Given the description of an element on the screen output the (x, y) to click on. 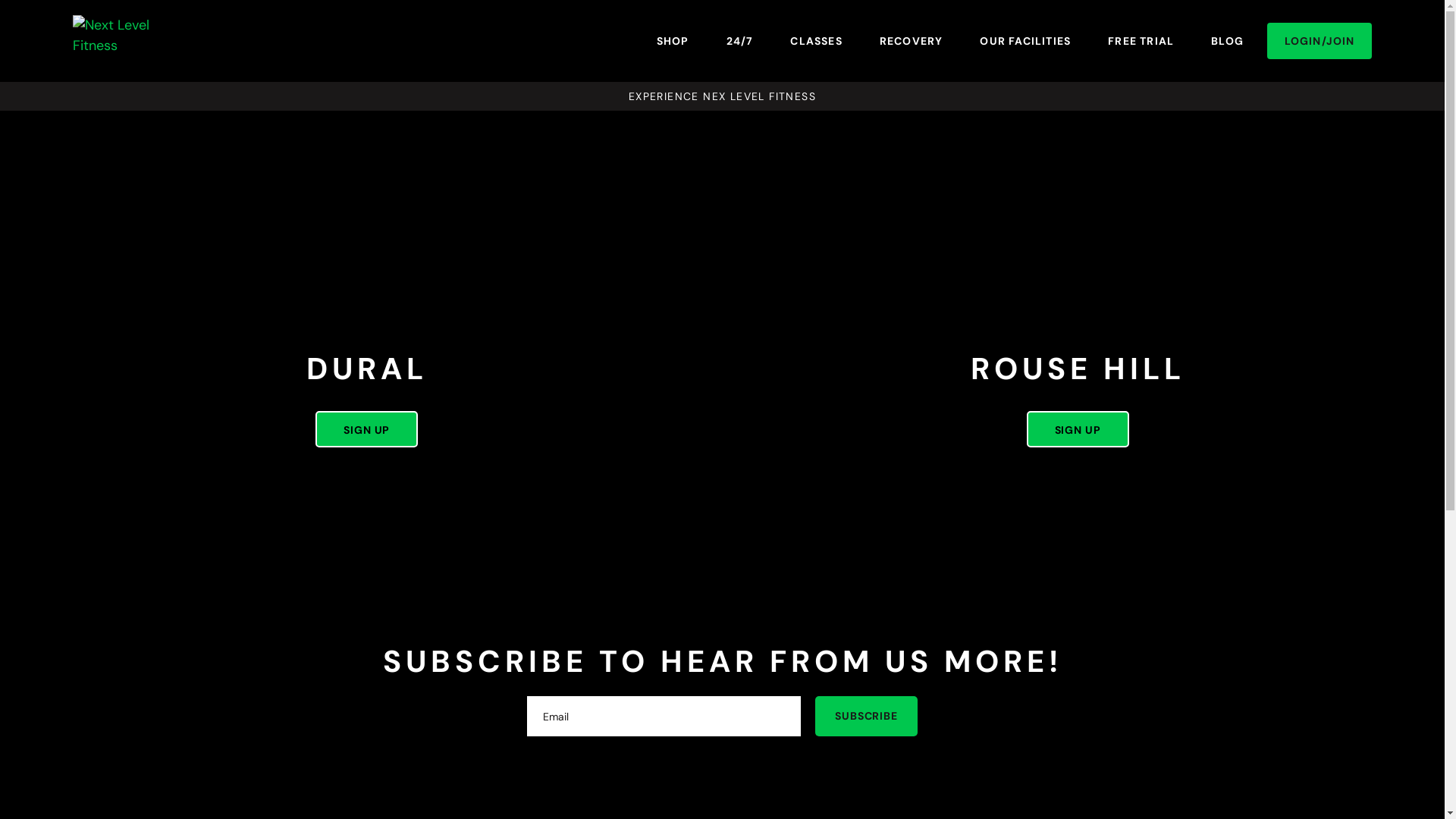
SIGN UP Element type: text (1077, 429)
FREE TRIAL Element type: text (1140, 40)
CLASSES Element type: text (815, 40)
LOGIN/JOIN Element type: text (1319, 40)
EXPERIENCE NEX LEVEL FITNESS Element type: text (721, 96)
BLOG Element type: text (1227, 40)
OUR FACILITIES Element type: text (1025, 40)
24/7 Element type: text (739, 40)
SIGN UP Element type: text (366, 429)
Subscribe Element type: text (866, 716)
SHOP Element type: text (672, 40)
RECOVERY Element type: text (911, 40)
